Given the description of an element on the screen output the (x, y) to click on. 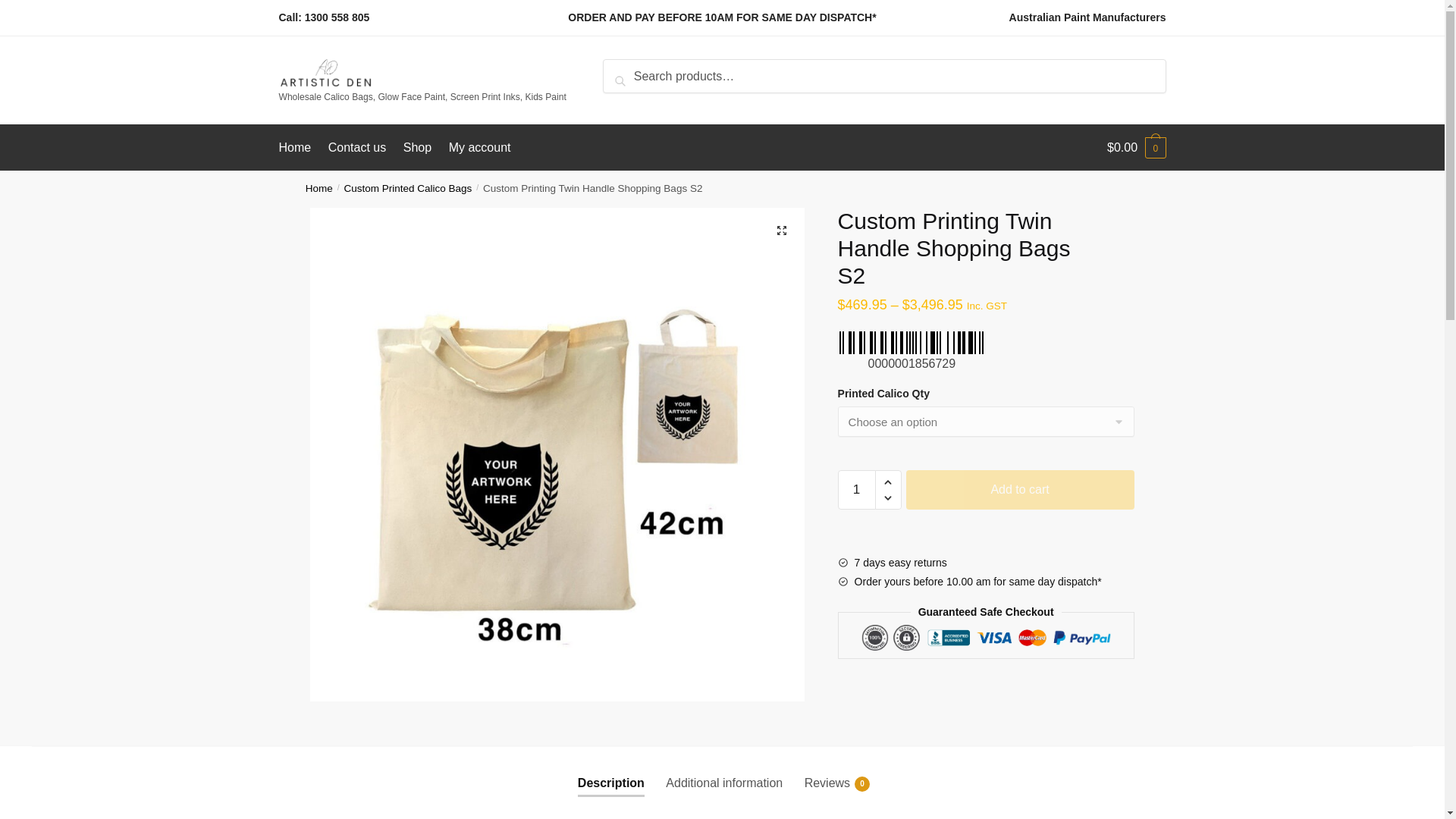
Search (626, 69)
My account (479, 147)
Shop (417, 147)
View your shopping cart (1136, 147)
1 (857, 489)
Contact us (357, 147)
